Given the description of an element on the screen output the (x, y) to click on. 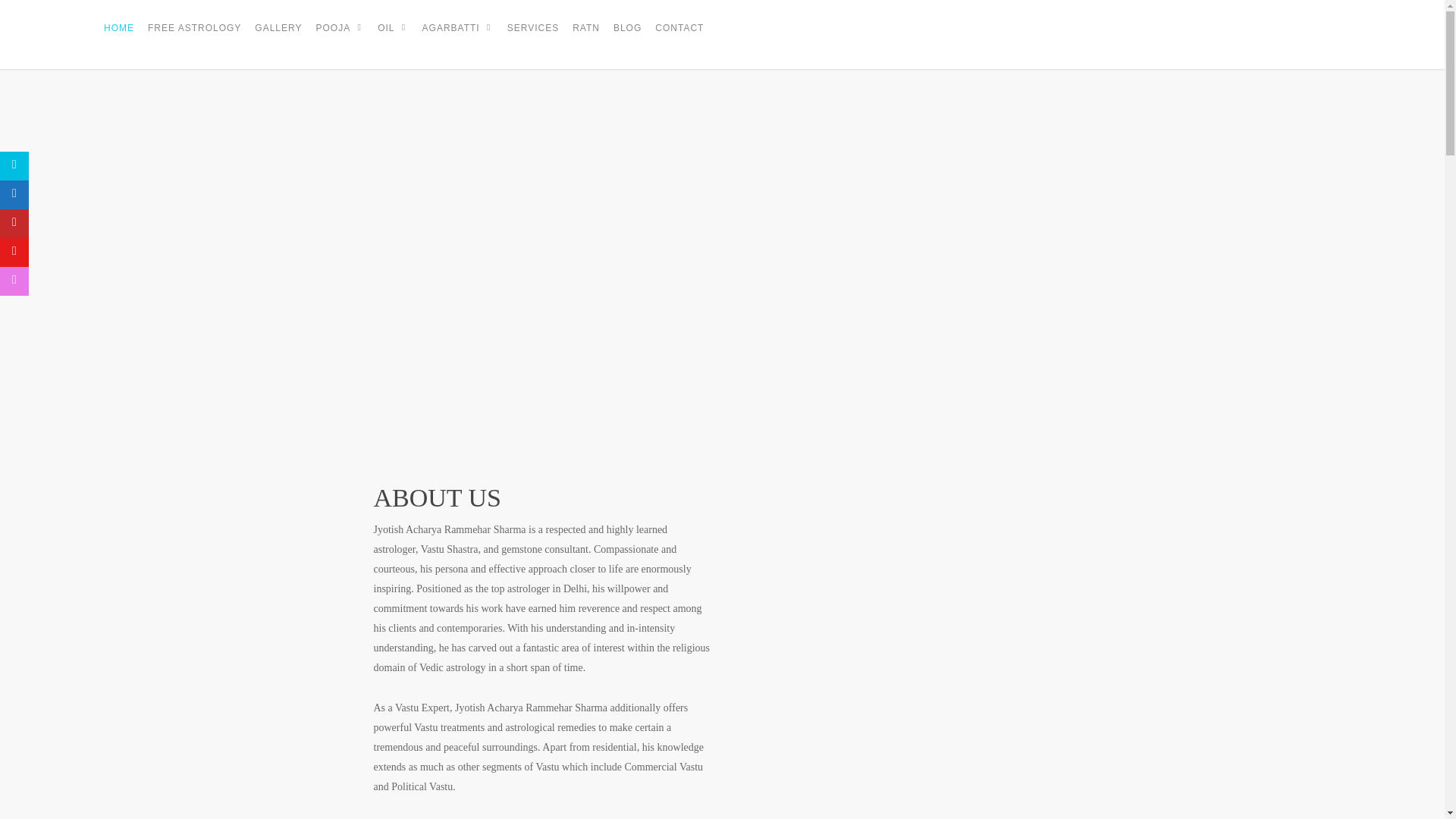
FREE ASTROLOGY (194, 38)
SERVICES (532, 38)
GALLERY (277, 38)
HOME (118, 38)
OIL (392, 38)
RATN (585, 38)
CONTACT (679, 38)
POOJA (340, 38)
BLOG (627, 38)
AGARBATTI (457, 38)
